Given the description of an element on the screen output the (x, y) to click on. 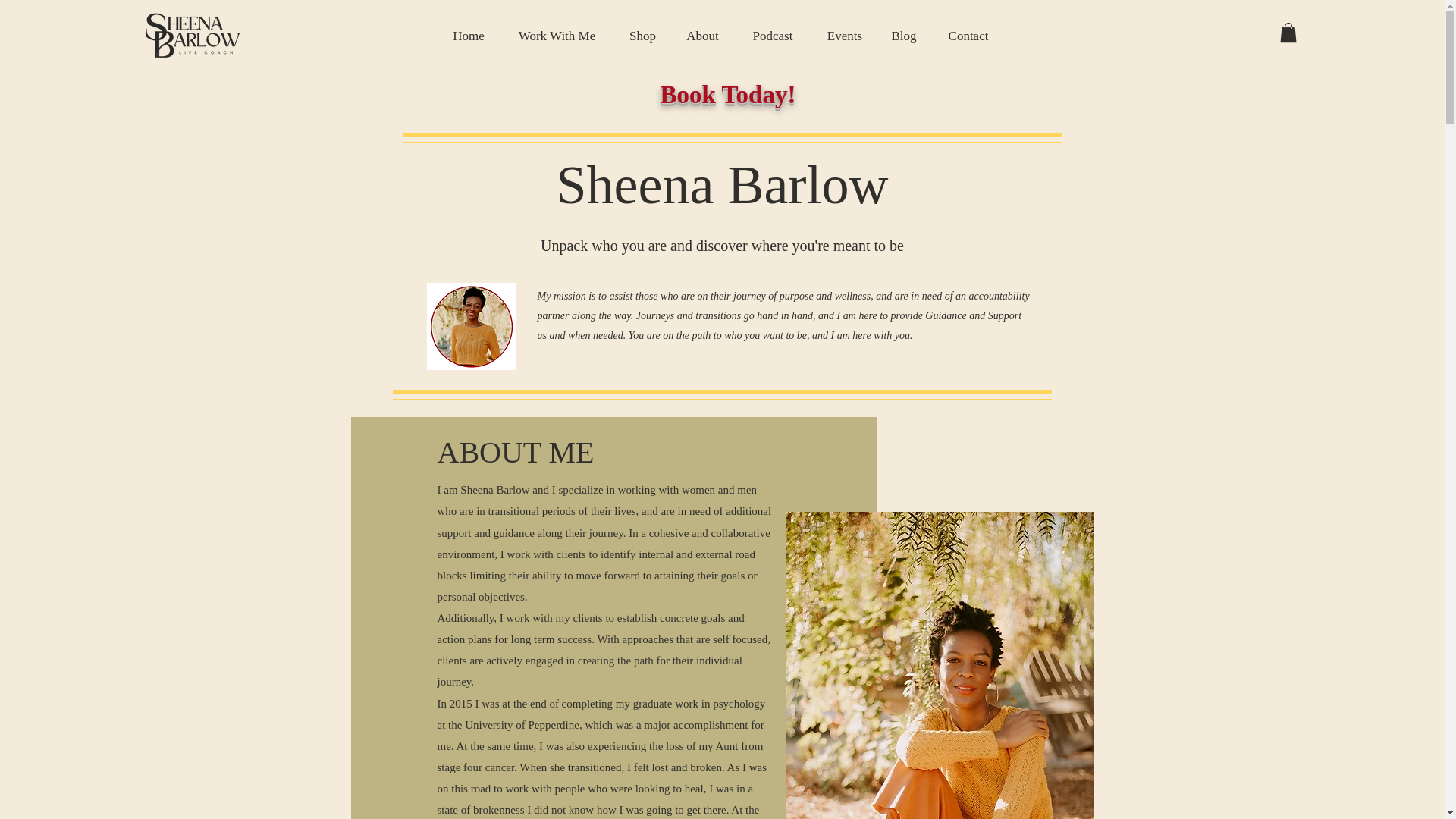
Contact (968, 35)
Blog (903, 35)
Work With Me (556, 35)
Screen Shot 2022-08-19 at 12.52.45 PM.png (470, 326)
Book Today! (728, 94)
Home (468, 35)
About (702, 35)
Podcast (771, 35)
Events (843, 35)
